Given the description of an element on the screen output the (x, y) to click on. 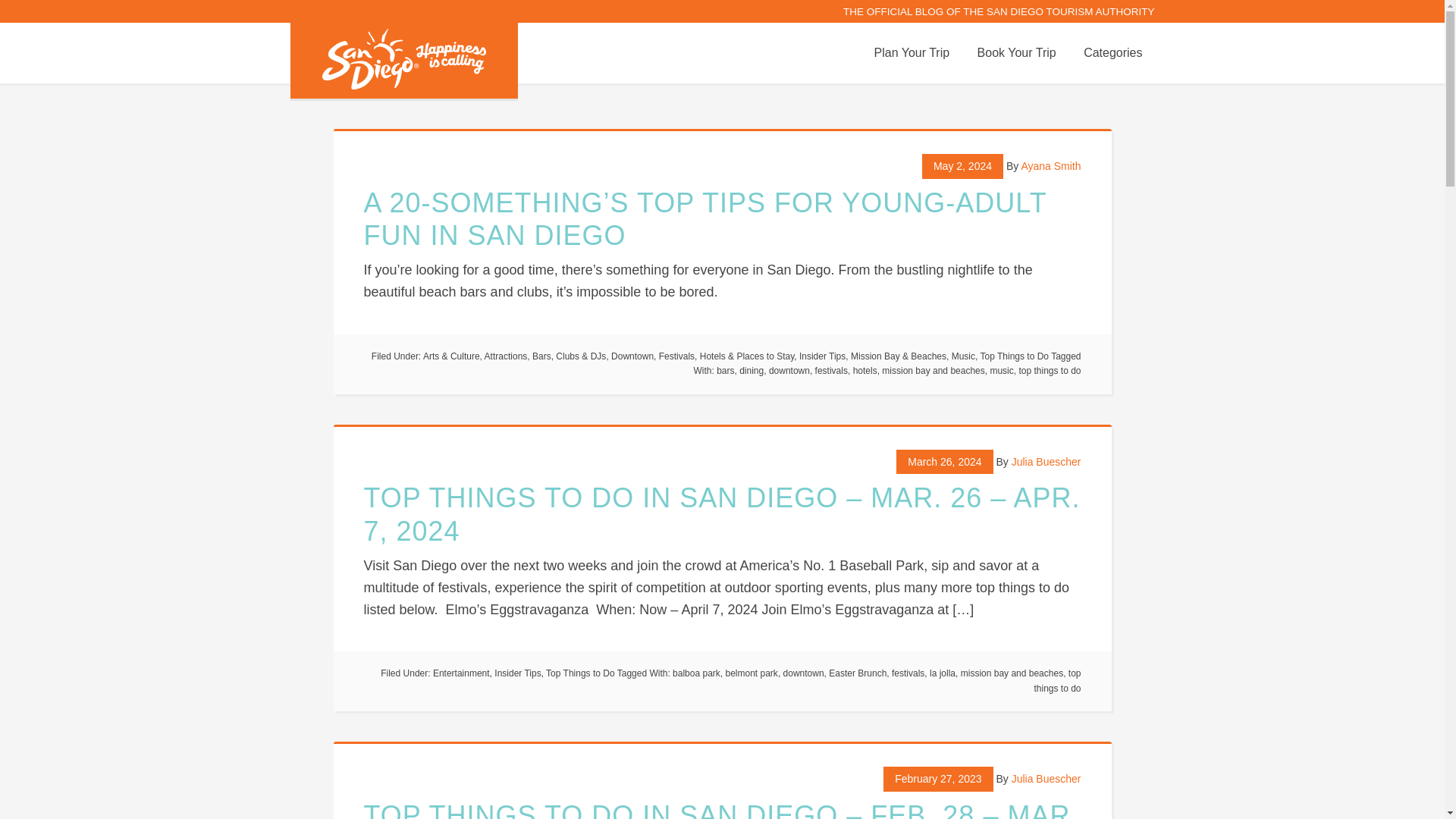
Plan Your Trip (911, 52)
Insider Tips (517, 673)
bars (724, 370)
Festivals (676, 356)
Ayana Smith (1050, 165)
Book Your Trip (1016, 52)
Downtown (632, 356)
dining (750, 370)
music (1001, 370)
top things to do (1048, 370)
Entertainment (460, 673)
Bars (541, 356)
Top Things to Do (580, 673)
downtown (788, 370)
hotels (865, 370)
